Given the description of an element on the screen output the (x, y) to click on. 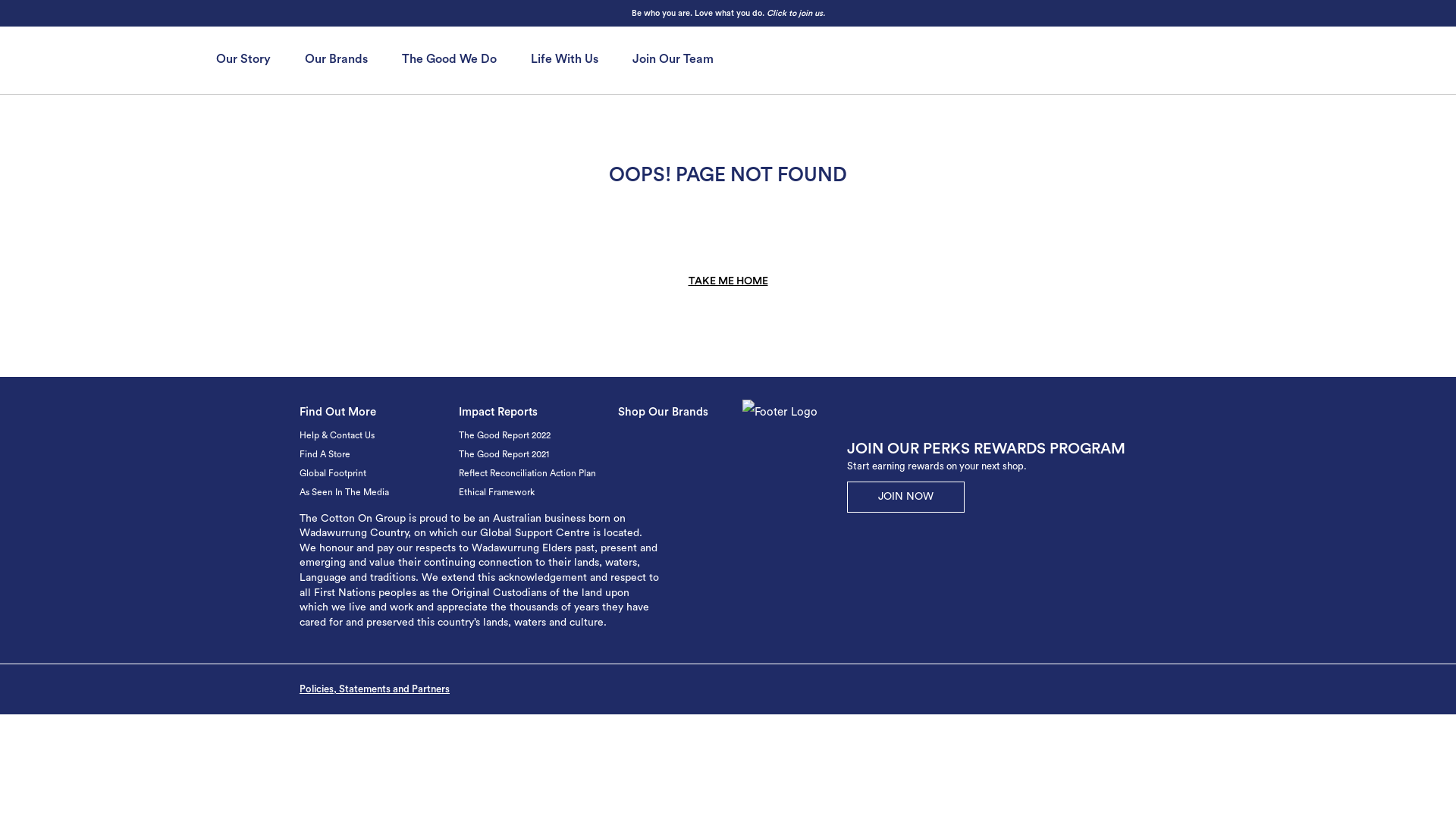
Reflect Reconciliation Action Plan Element type: text (527, 472)
The Good Report 2022 Element type: text (504, 434)
JOIN NOW Element type: text (905, 496)
Be who you are. Love what you do. Click to join us. Element type: text (727, 13)
Shop Our Brands Element type: text (663, 411)
Our Story Element type: text (243, 59)
The Good Report 2021 Element type: text (503, 453)
Our Brands Element type: text (335, 59)
Join Our Team Element type: text (672, 59)
Help & Contact Us Element type: text (336, 434)
Global Footprint Element type: text (332, 472)
Life With Us Element type: text (564, 59)
Policies, Statements and Partners Element type: text (374, 688)
Find Out More Element type: text (337, 411)
The Good We Do Element type: text (448, 59)
Find A Store Element type: text (324, 453)
As Seen In The Media Element type: text (344, 491)
Impact Reports Element type: text (497, 411)
Ethical Framework Element type: text (496, 491)
TAKE ME HOME Element type: text (728, 281)
